Given the description of an element on the screen output the (x, y) to click on. 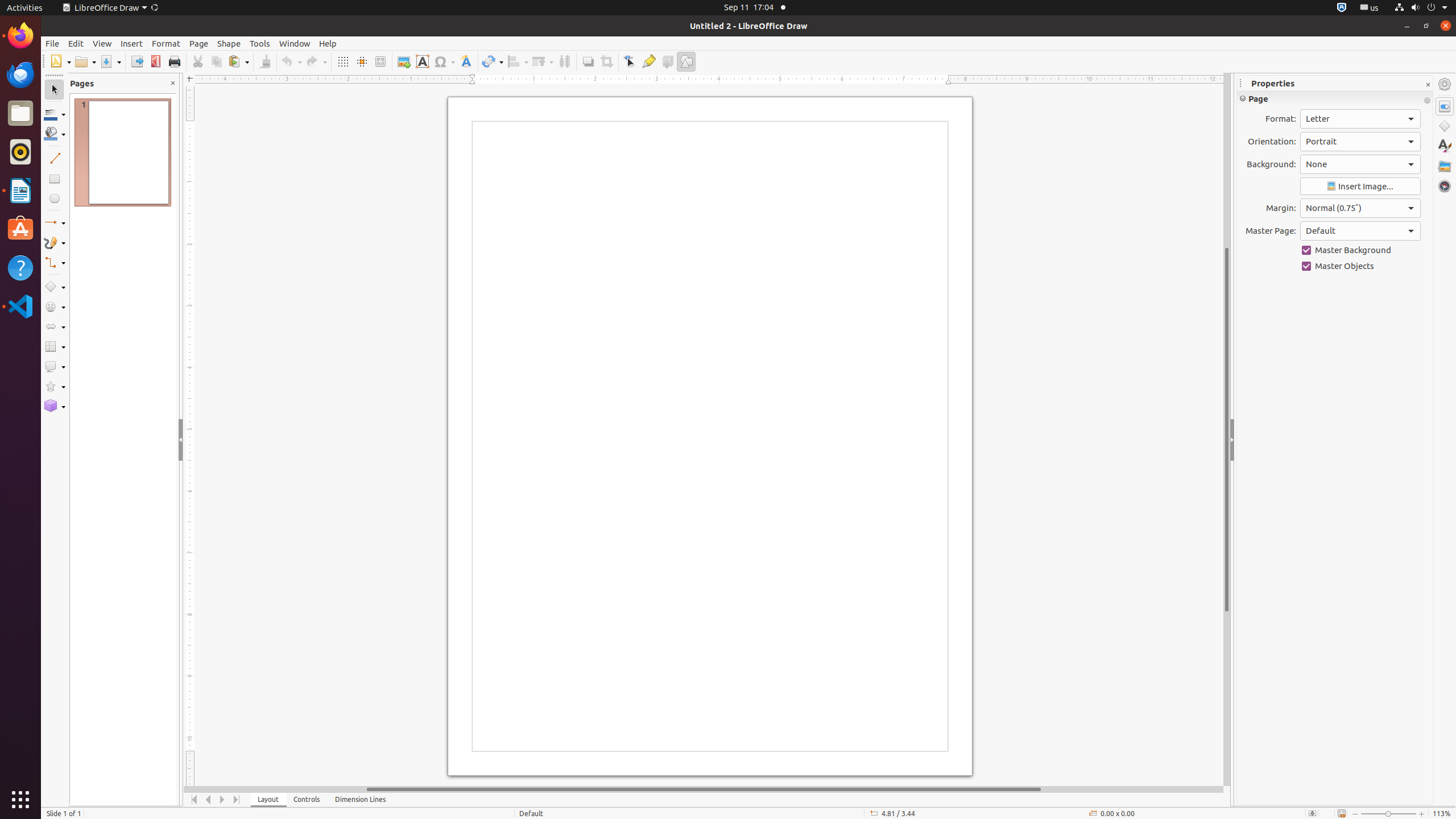
Crop Element type: push-button (606, 61)
Toggle Extrusion Element type: push-button (667, 61)
Callout Shapes Element type: push-button (54, 366)
Close Pane Element type: push-button (172, 82)
